Given the description of an element on the screen output the (x, y) to click on. 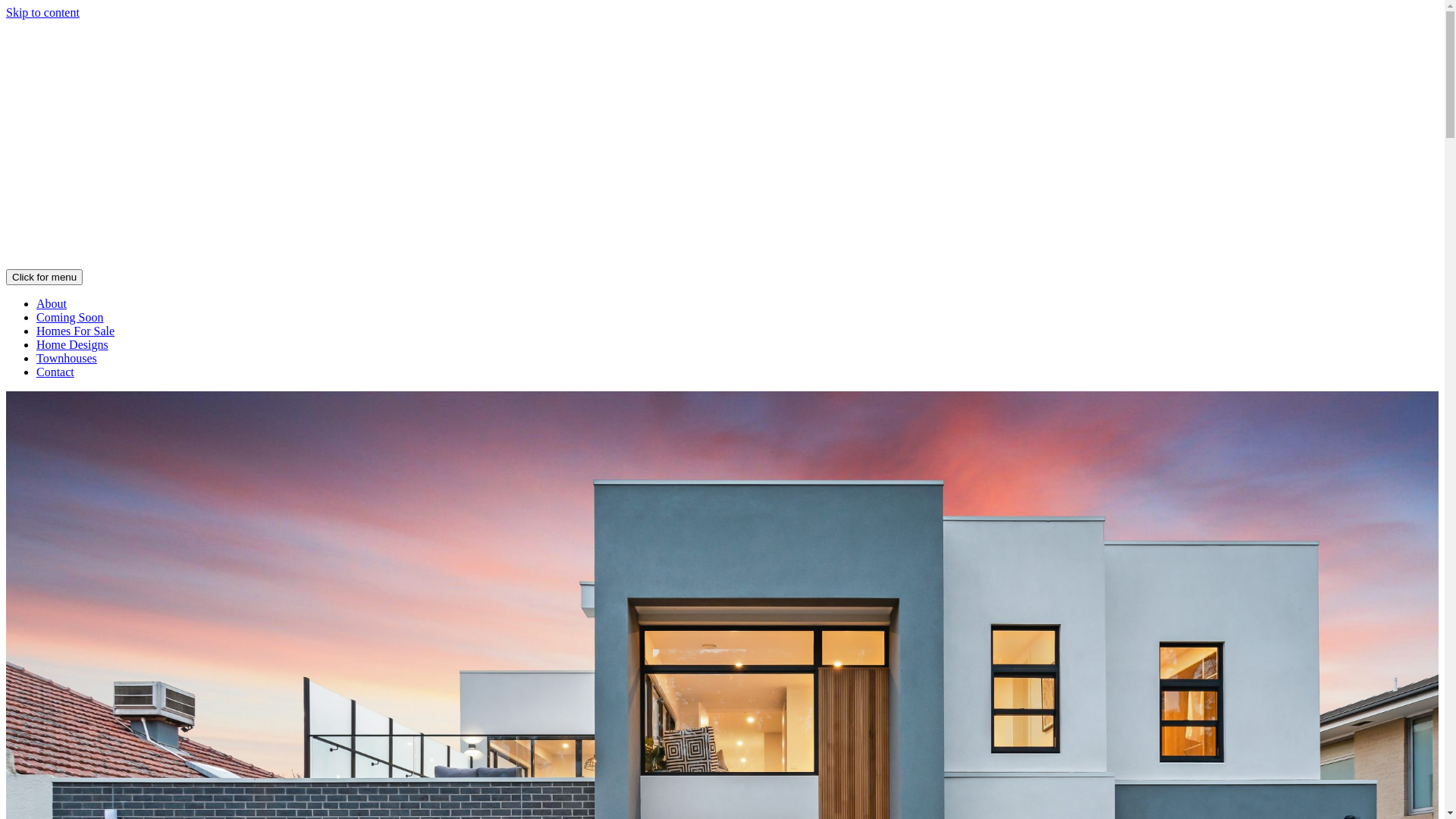
Homes For Sale Element type: text (75, 330)
Click for menu Element type: text (44, 277)
Coming Soon Element type: text (69, 316)
About Element type: text (51, 303)
Quality homes Element type: hover (722, 261)
Home Designs Element type: text (72, 344)
Skip to content Element type: text (42, 12)
Contact Element type: text (55, 371)
Townhouses Element type: text (66, 357)
